Given the description of an element on the screen output the (x, y) to click on. 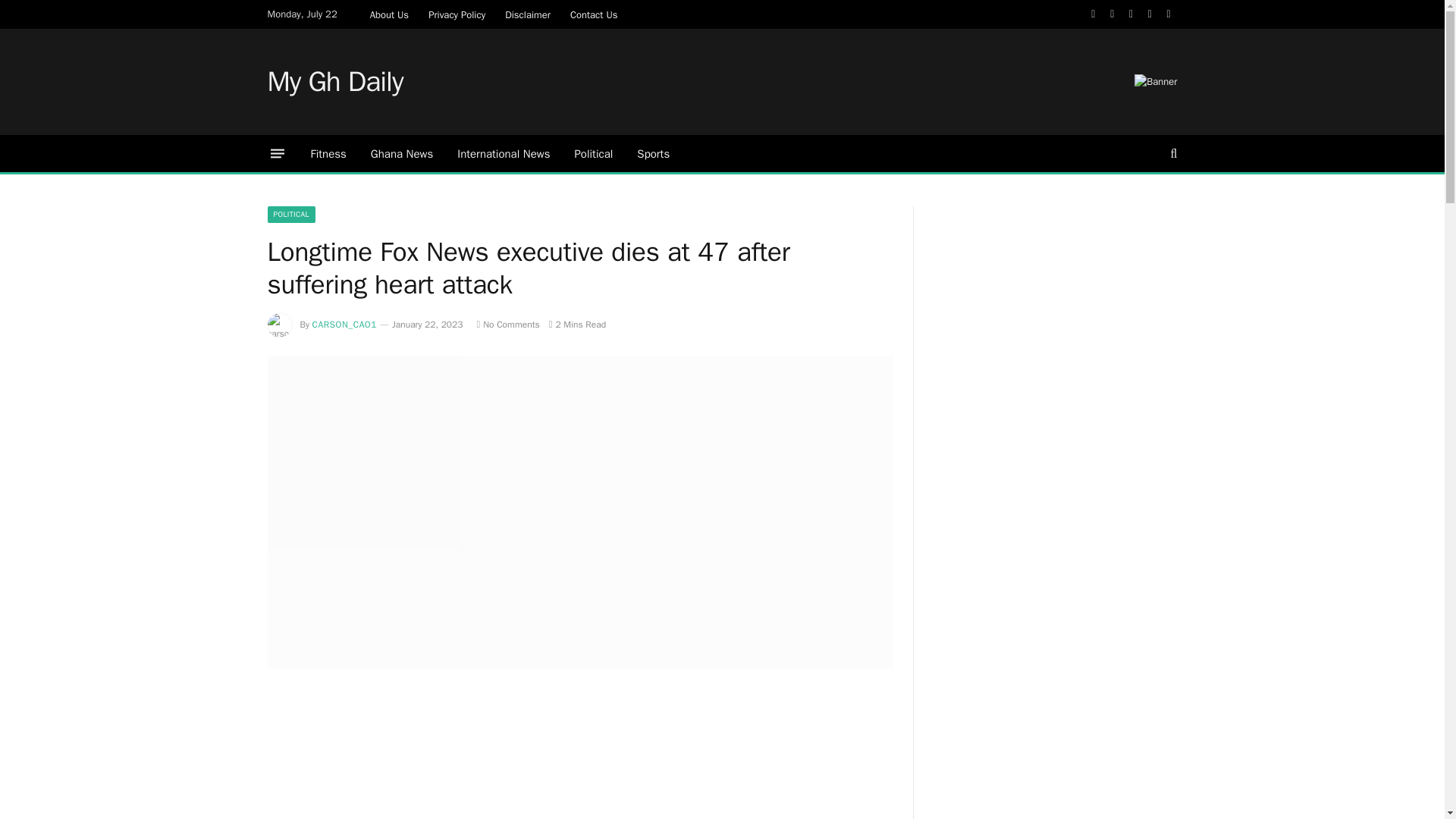
Contact Us (593, 14)
Privacy Policy (457, 14)
Sports (652, 153)
Instagram (1131, 14)
Facebook (1093, 14)
VKontakte (1168, 14)
Ghana News (401, 153)
Search (1172, 153)
My Gh Daily (334, 81)
My Gh Daily  (334, 81)
International News (503, 153)
Twitter (1112, 14)
No Comments (507, 324)
Political (593, 153)
